Given the description of an element on the screen output the (x, y) to click on. 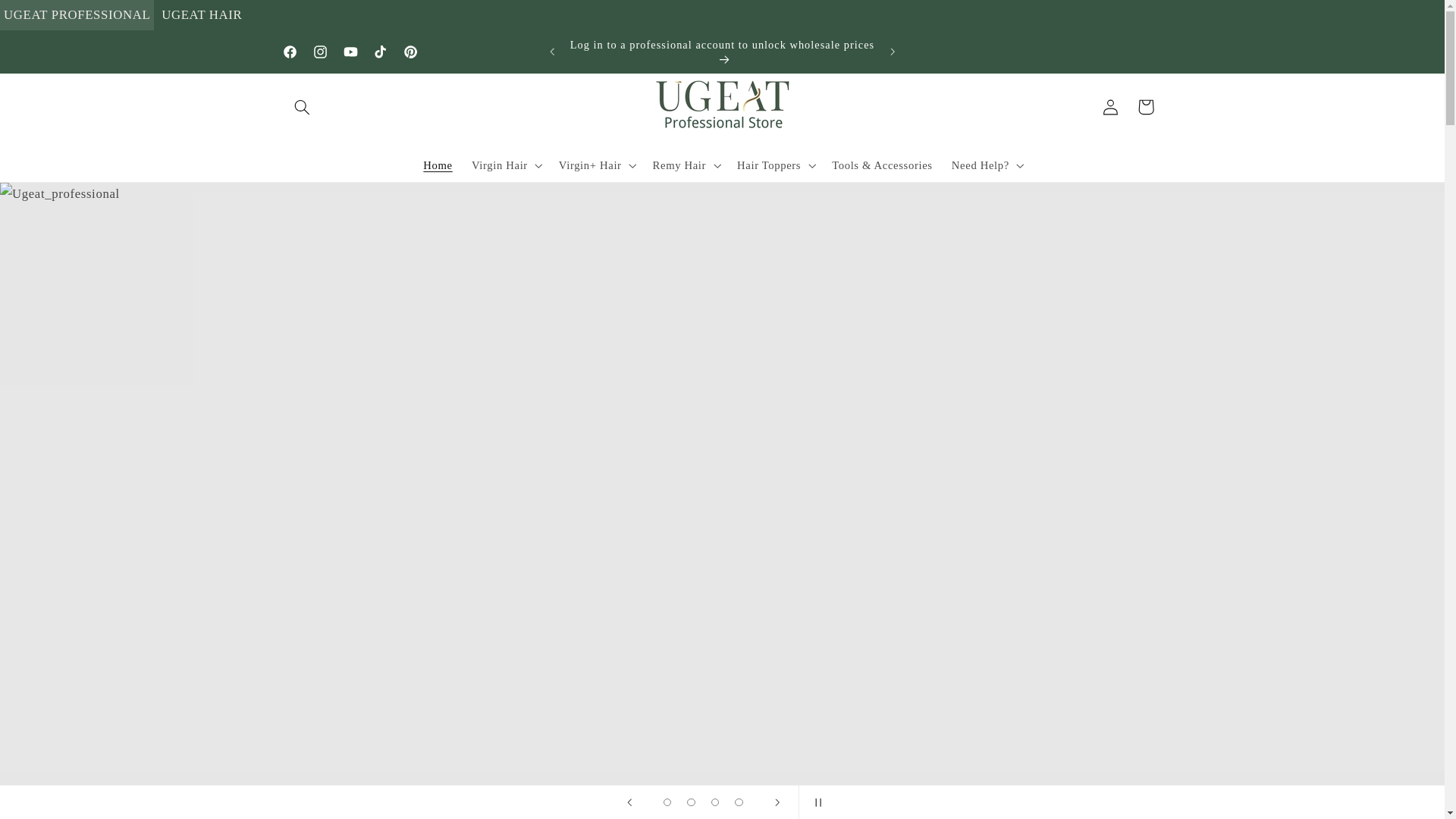
YouTube (349, 51)
TikTok (380, 51)
UGEAT HAIR (201, 15)
Skip to content (48, 18)
Facebook (289, 51)
Log in to a professional account to unlock wholesale prices (722, 52)
Instagram (319, 51)
Pinterest (411, 51)
UGEAT PROFESSIONAL (77, 15)
